Given the description of an element on the screen output the (x, y) to click on. 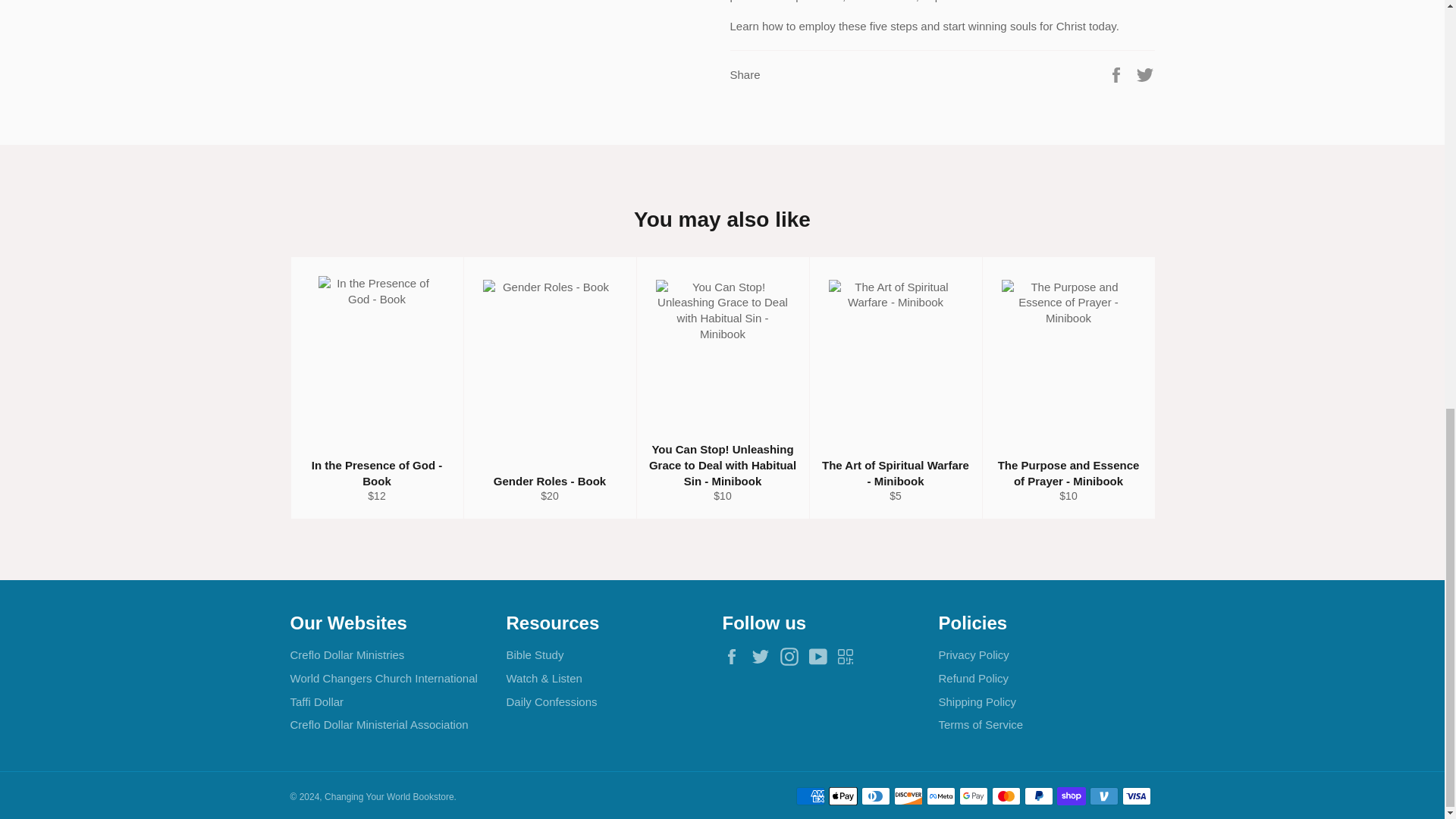
Tweet on Twitter (1144, 73)
Changing Your World Bookstore on YouTube (821, 656)
Share on Facebook (1117, 73)
Changing Your World Bookstore on Twitter (764, 656)
QR Code (849, 656)
Changing Your World Bookstore on Instagram (793, 656)
Changing Your World Bookstore on Facebook (735, 656)
